Given the description of an element on the screen output the (x, y) to click on. 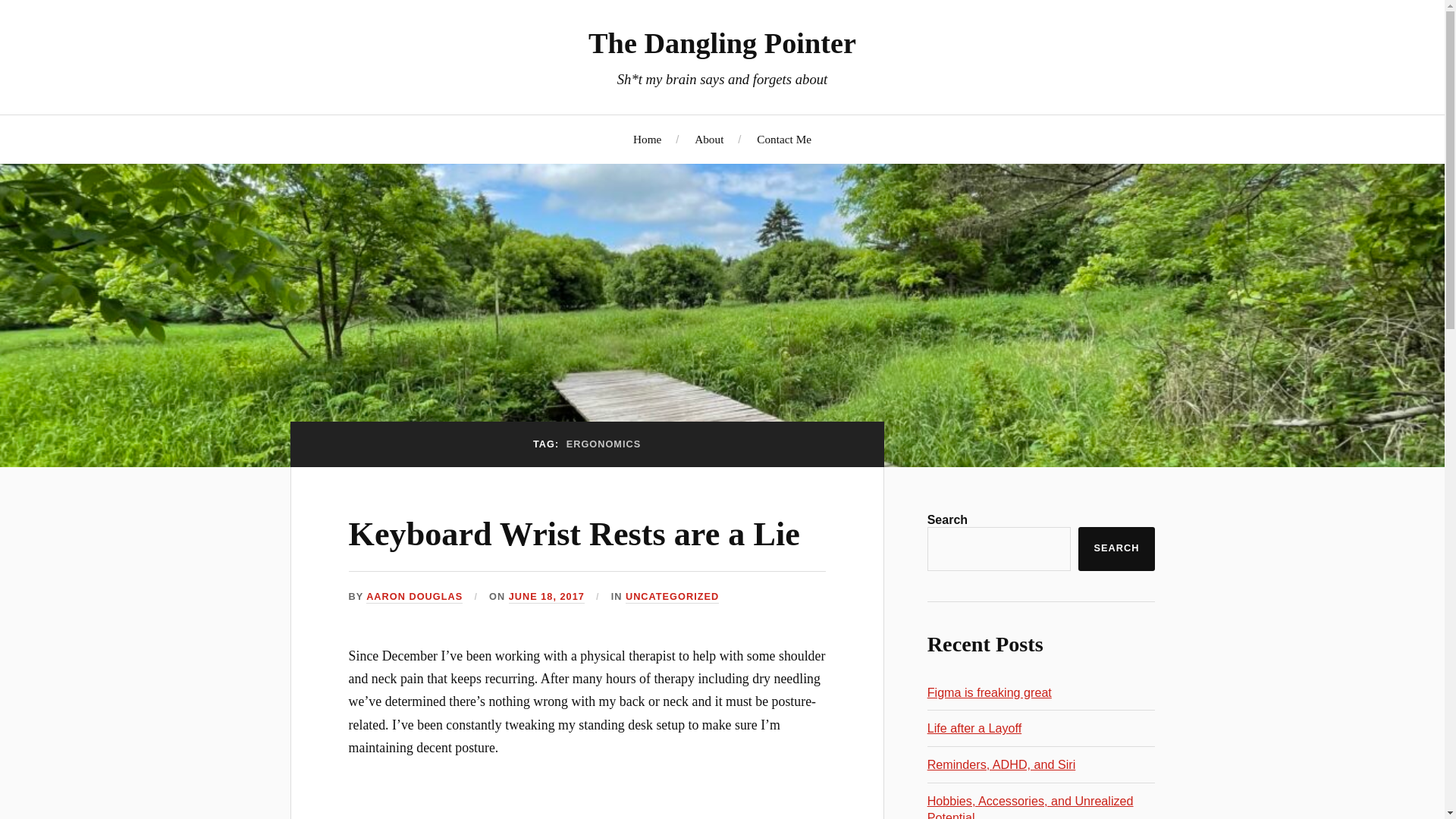
Contact Me (783, 138)
SEARCH (1116, 548)
JUNE 18, 2017 (546, 596)
UNCATEGORIZED (672, 596)
Keyboard Wrist Rests are a Lie (574, 533)
Life after a Layoff (974, 727)
Hobbies, Accessories, and Unrealized Potential (1030, 806)
The Dangling Pointer (722, 42)
Reminders, ADHD, and Siri (1001, 764)
AARON DOUGLAS (414, 596)
Figma is freaking great (989, 692)
Posts by Aaron Douglas (414, 596)
